Given the description of an element on the screen output the (x, y) to click on. 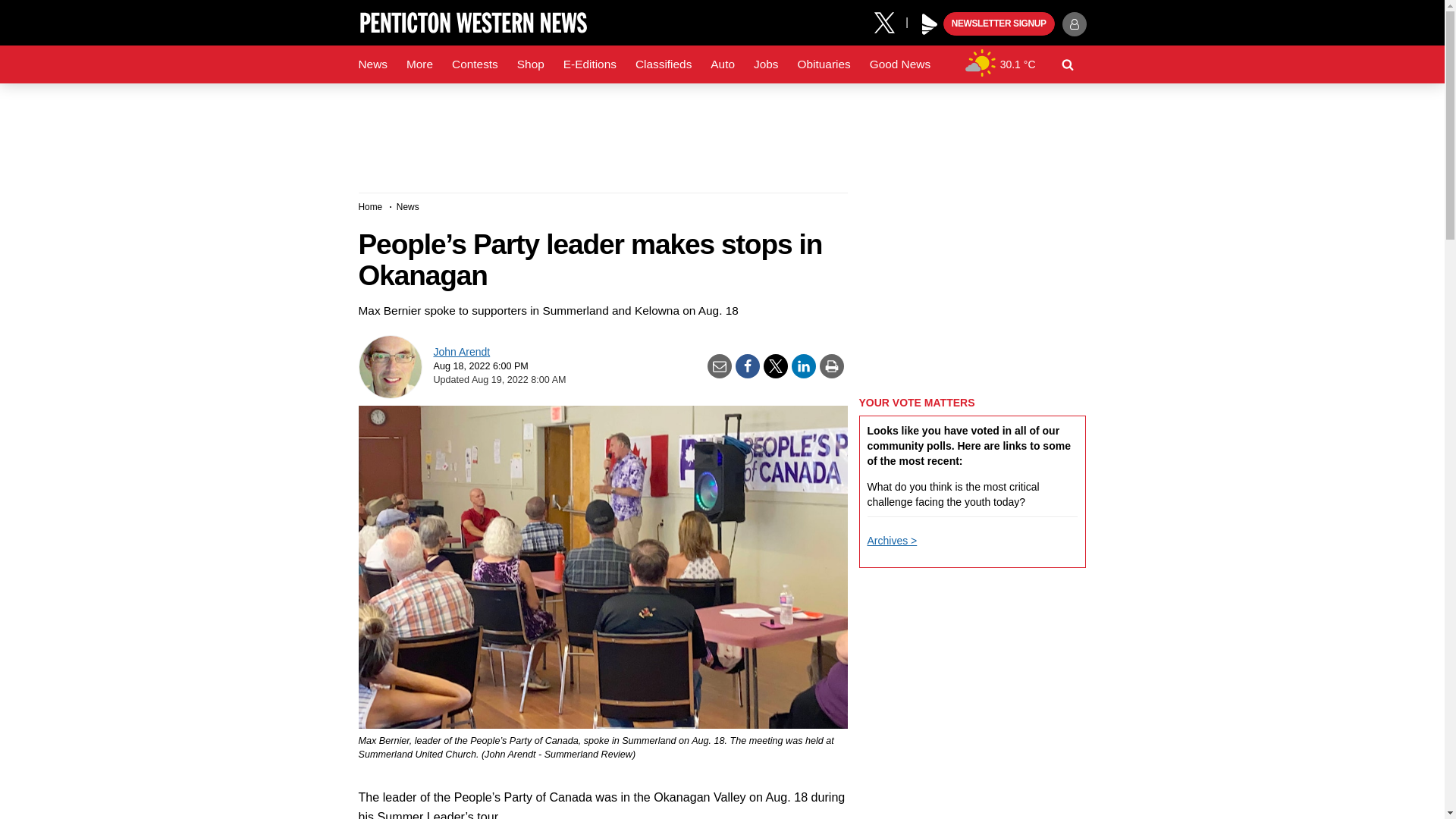
Play (929, 24)
News (372, 64)
3rd party ad content (721, 131)
NEWSLETTER SIGNUP (998, 24)
X (889, 21)
Black Press Media (929, 24)
